Given the description of an element on the screen output the (x, y) to click on. 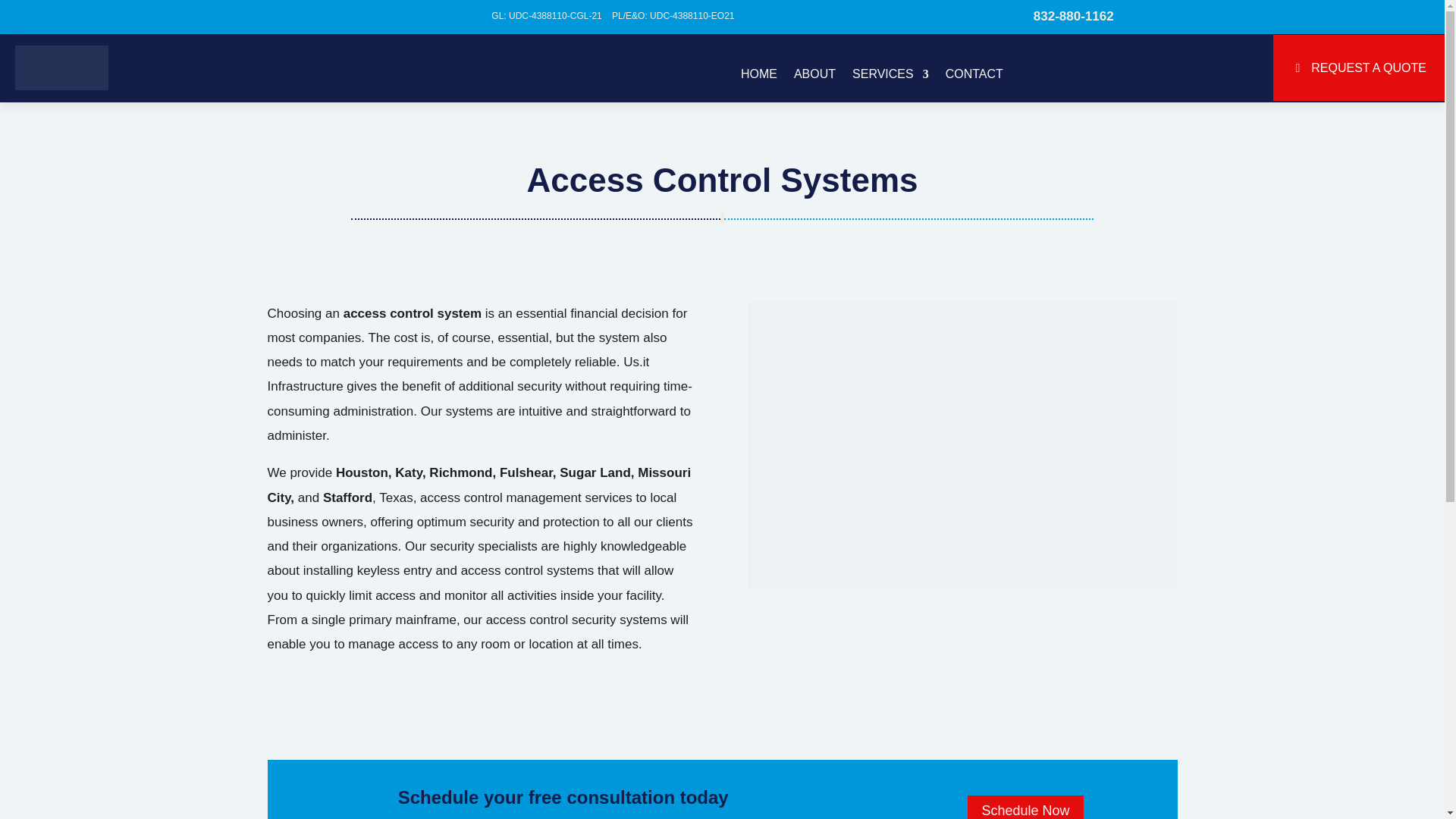
CONTACT (973, 84)
ABOUT (814, 84)
access-control-er (962, 445)
HOME (759, 84)
Schedule Now (1025, 807)
uiitlogo (60, 67)
SERVICES (889, 84)
